Given the description of an element on the screen output the (x, y) to click on. 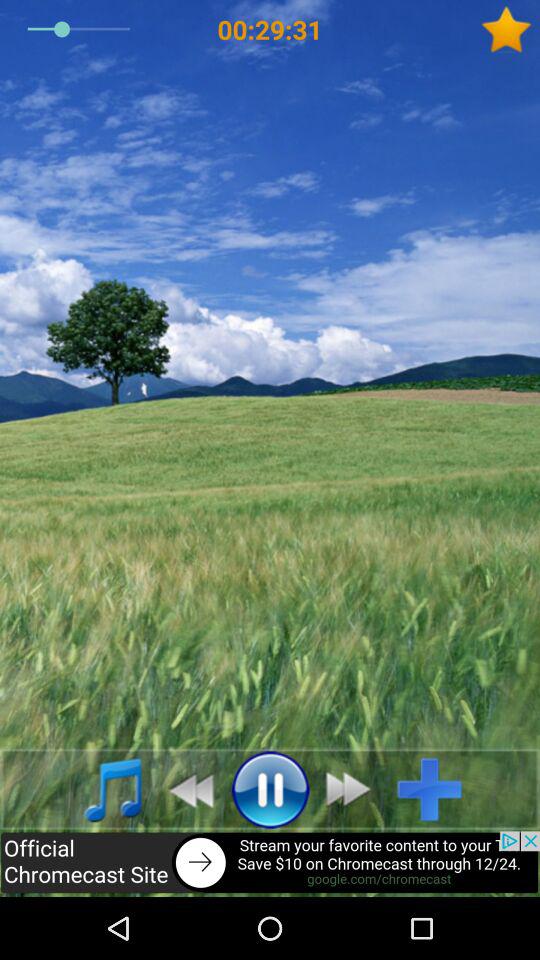
add music (438, 789)
